Given the description of an element on the screen output the (x, y) to click on. 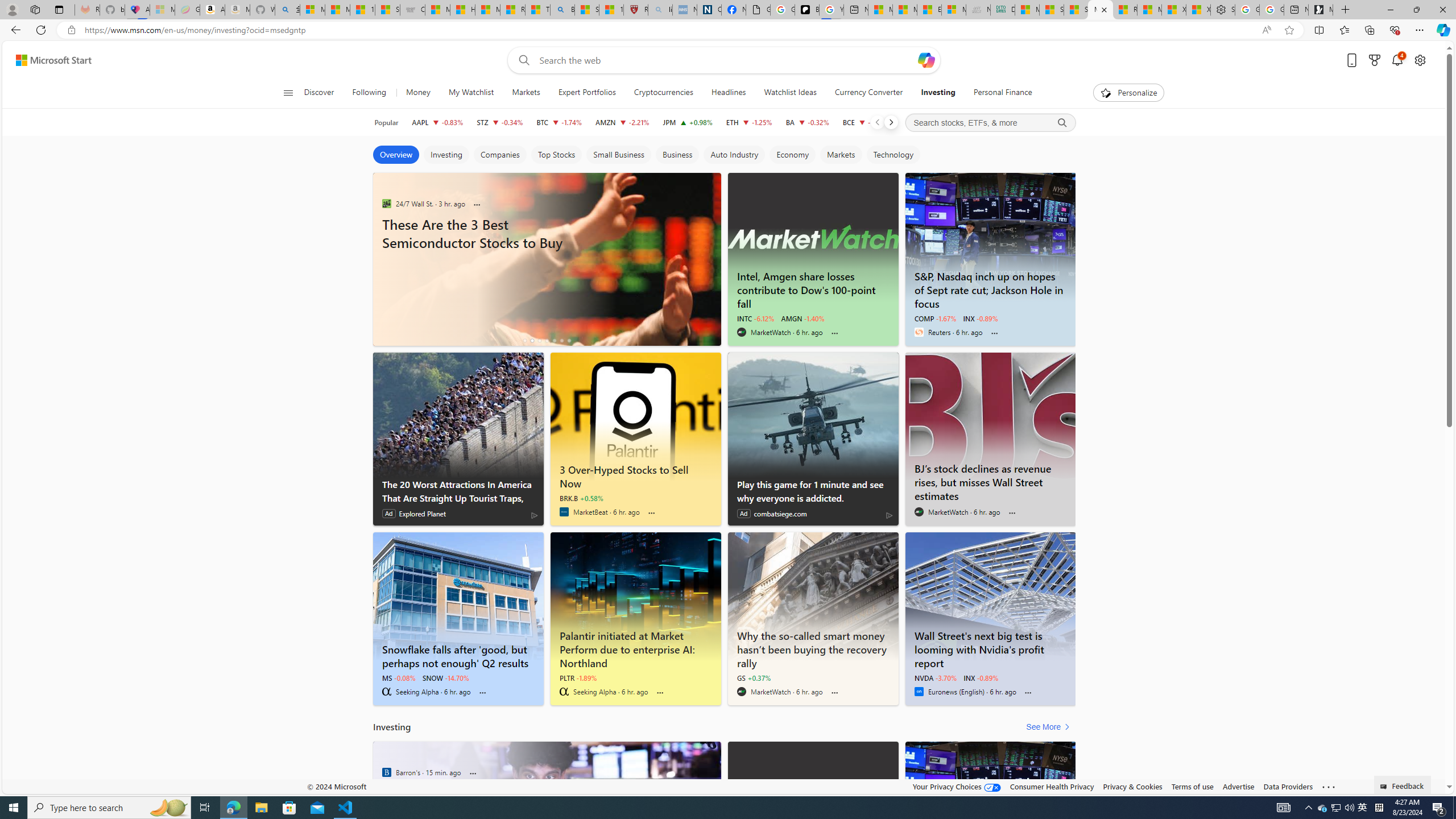
Next (890, 122)
SNOW -14.70% (445, 677)
Business (676, 154)
Watchlist Ideas (790, 92)
BTC Bitcoin decrease 60,359.26 -1,049.65 -1.74% (559, 122)
AMZN AMAZON.COM, INC. decrease 176.13 -3.98 -2.21% (622, 122)
